Given the description of an element on the screen output the (x, y) to click on. 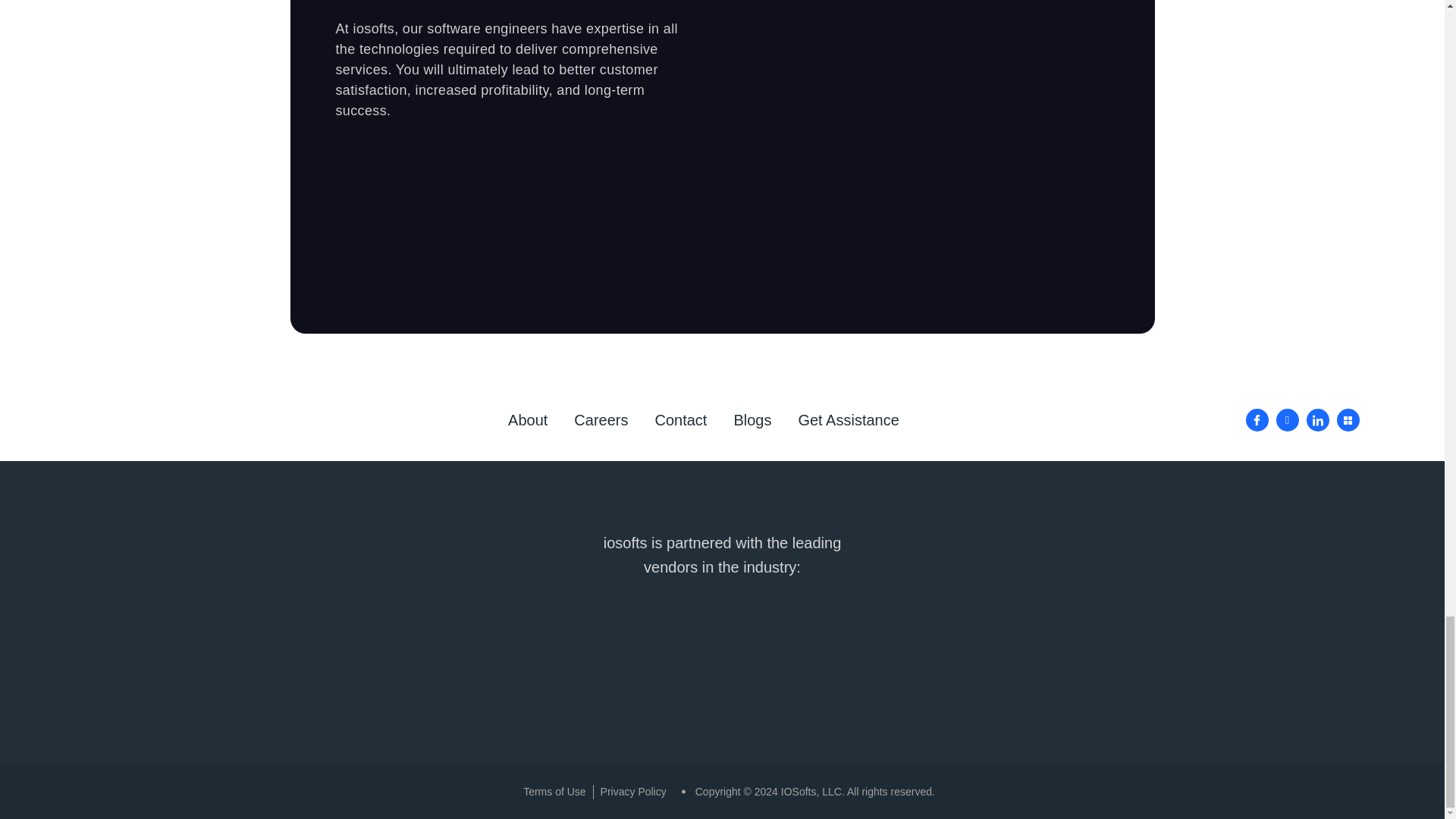
Careers (600, 420)
Submit (915, 234)
Get Assistance (847, 420)
Terms of Use (553, 791)
Contact (679, 420)
Blogs (752, 420)
Privacy Policy (633, 791)
About (527, 420)
